Given the description of an element on the screen output the (x, y) to click on. 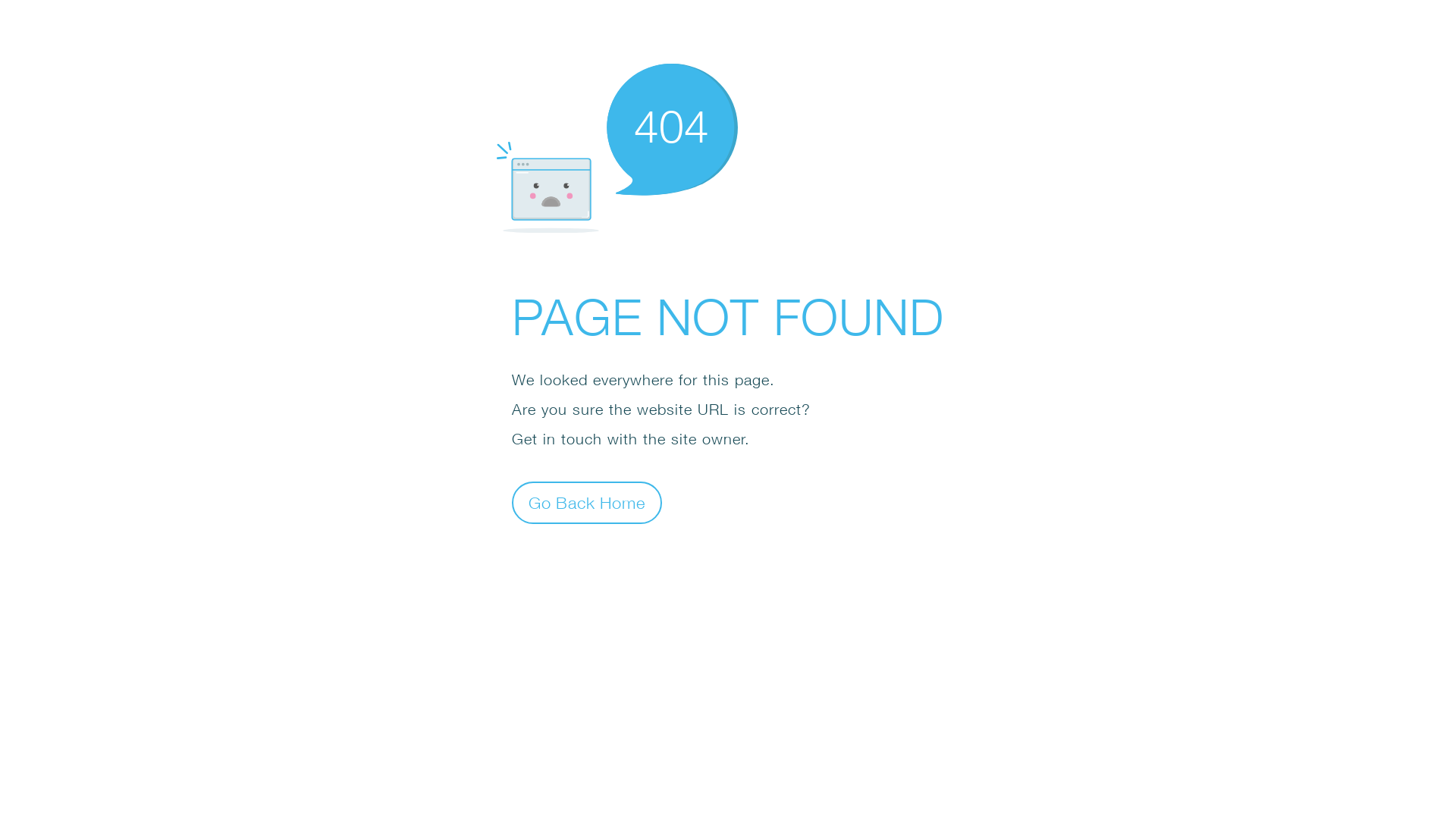
Go Back Home Element type: text (586, 502)
